Given the description of an element on the screen output the (x, y) to click on. 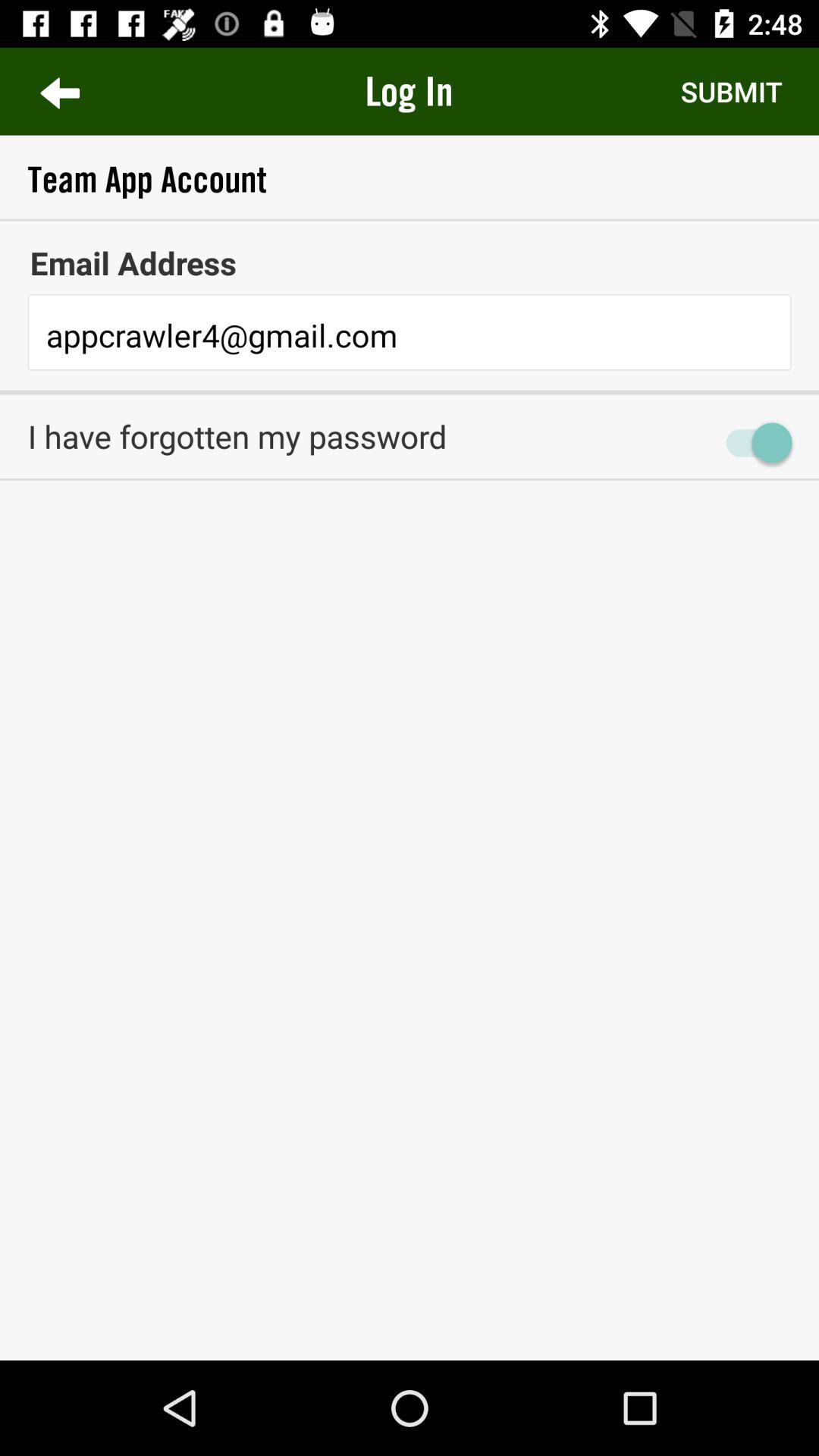
turn on item next to the i have forgotten item (751, 442)
